Given the description of an element on the screen output the (x, y) to click on. 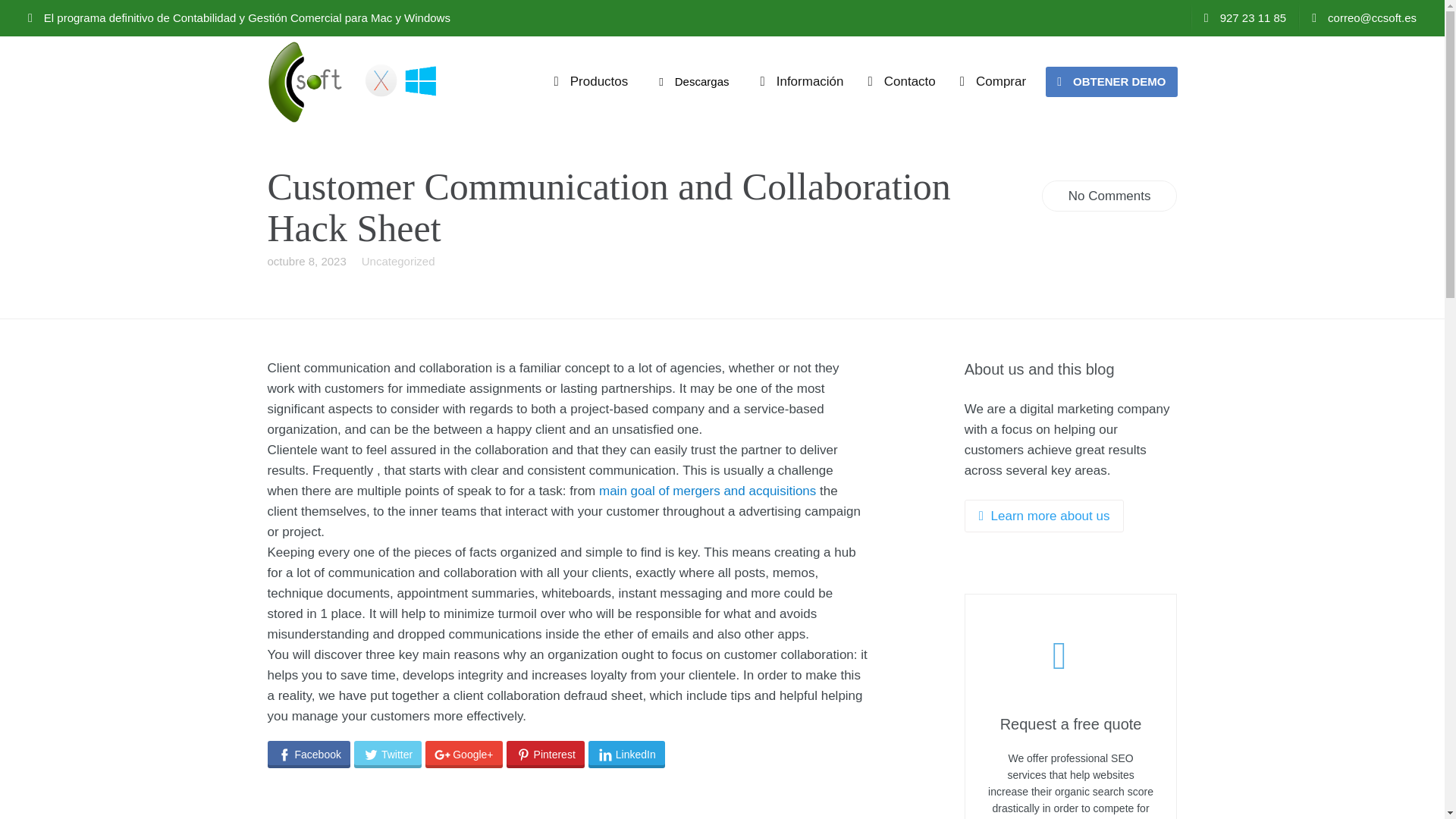
Facebook (307, 754)
main goal of mergers and acquisitions (706, 490)
Uncategorized (398, 260)
Productos (590, 81)
CC Soft (354, 81)
Comprar (992, 81)
OBTENER DEMO (1110, 81)
Learn more about us (1043, 515)
Twitter (387, 754)
Pinterest (545, 754)
Contacto (901, 81)
LinkedIn (626, 754)
